Given the description of an element on the screen output the (x, y) to click on. 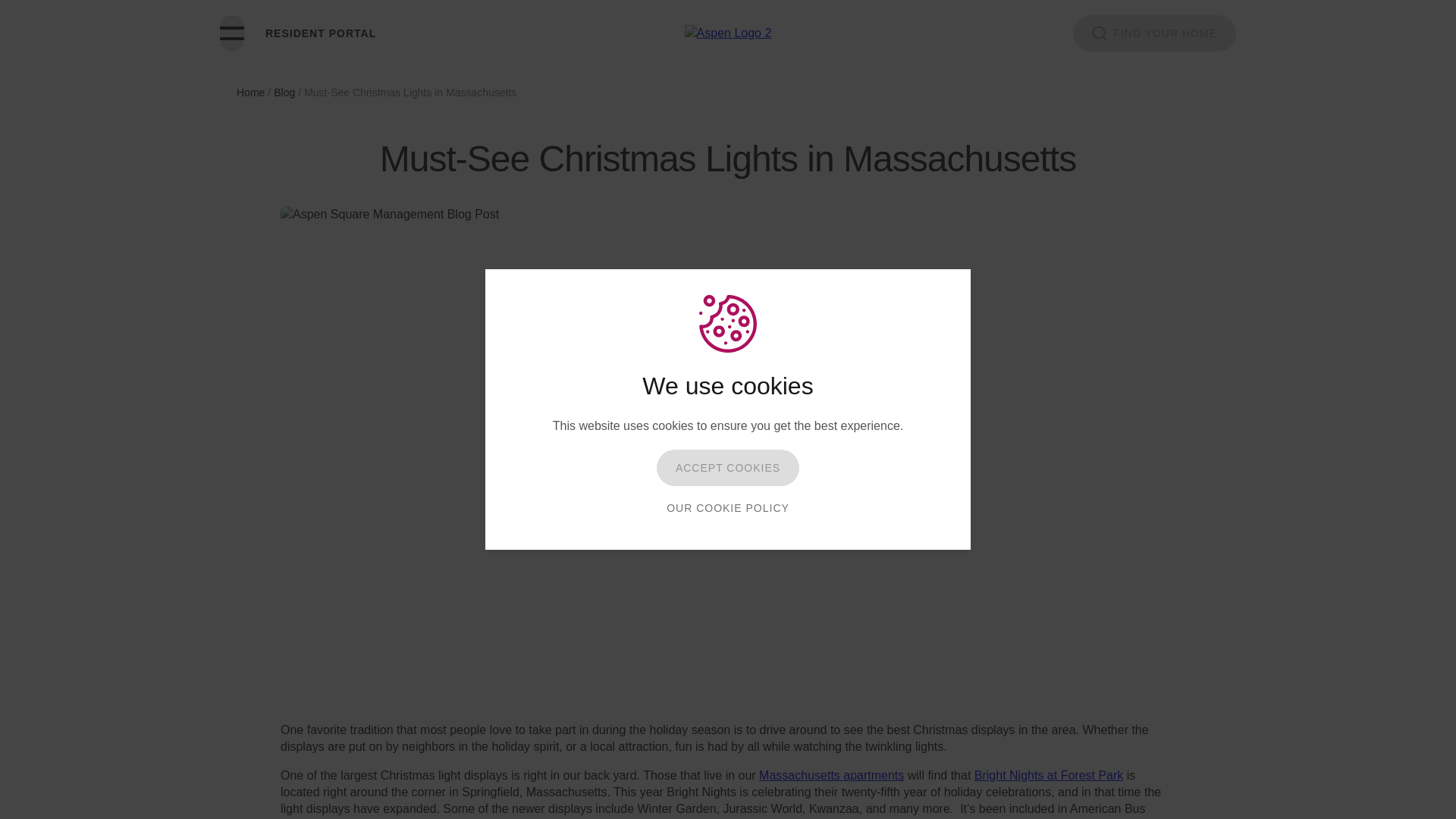
RESIDENT PORTAL (319, 32)
Bright Nights at Forest Park (1049, 775)
Home (249, 92)
Must-See Christmas Lights in Massachusetts (410, 92)
Massachusetts apartments (831, 775)
FIND YOUR HOME (1154, 33)
Blog (284, 92)
